Given the description of an element on the screen output the (x, y) to click on. 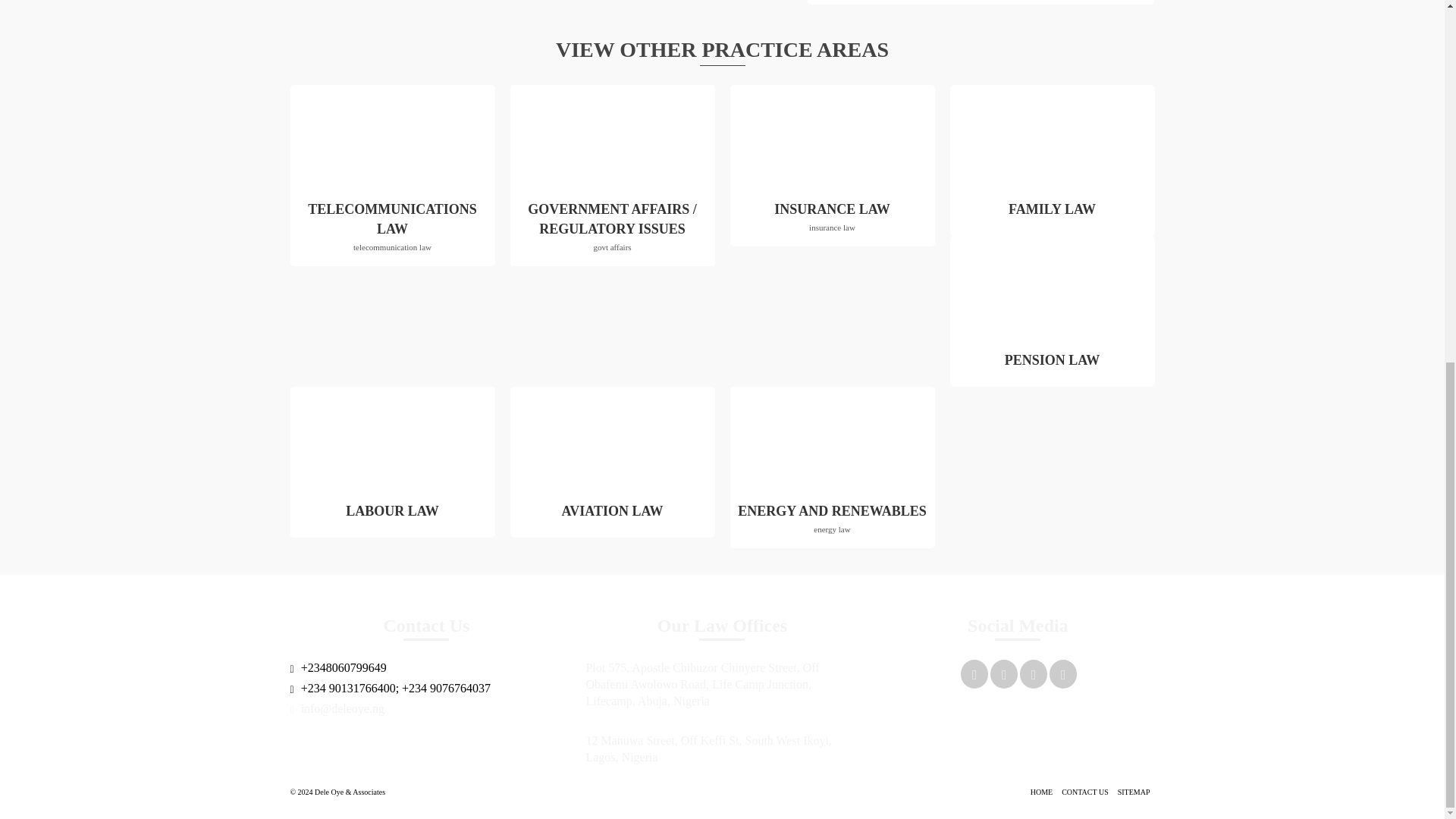
LinkedIn (392, 230)
PENSION LAW (831, 220)
Twitter (1033, 673)
FAMILY LAW (1051, 365)
Facebook (1003, 673)
RSS (1051, 214)
